Given the description of an element on the screen output the (x, y) to click on. 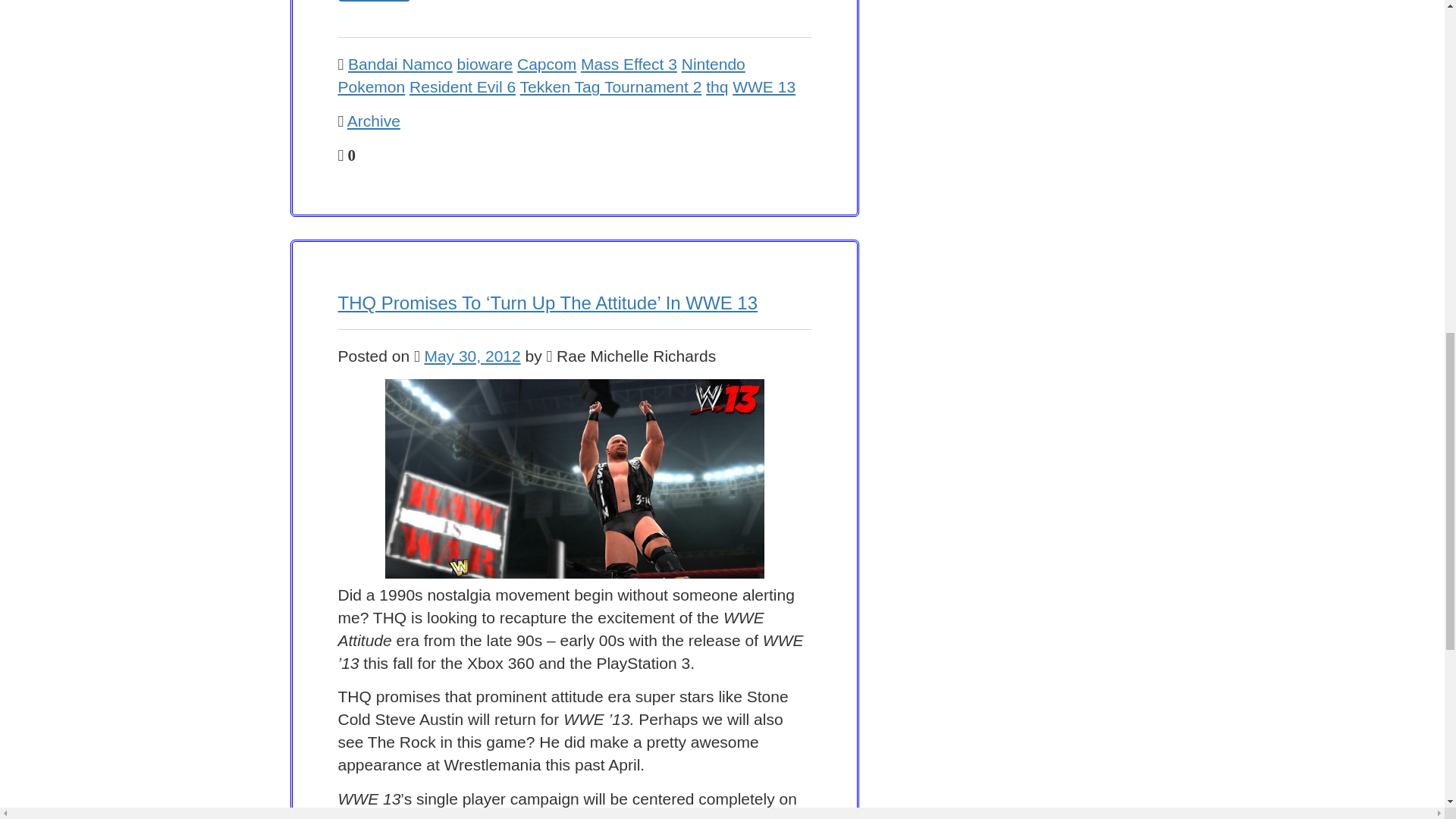
WWE 13 (763, 86)
Capcom (546, 63)
Resident Evil 6 (462, 86)
May 30, 2012 (471, 355)
Read More (373, 0)
Bandai Namco (399, 63)
Nintendo (713, 63)
thq (717, 86)
Tekken Tag Tournament 2 (610, 86)
bioware (485, 63)
